Given the description of an element on the screen output the (x, y) to click on. 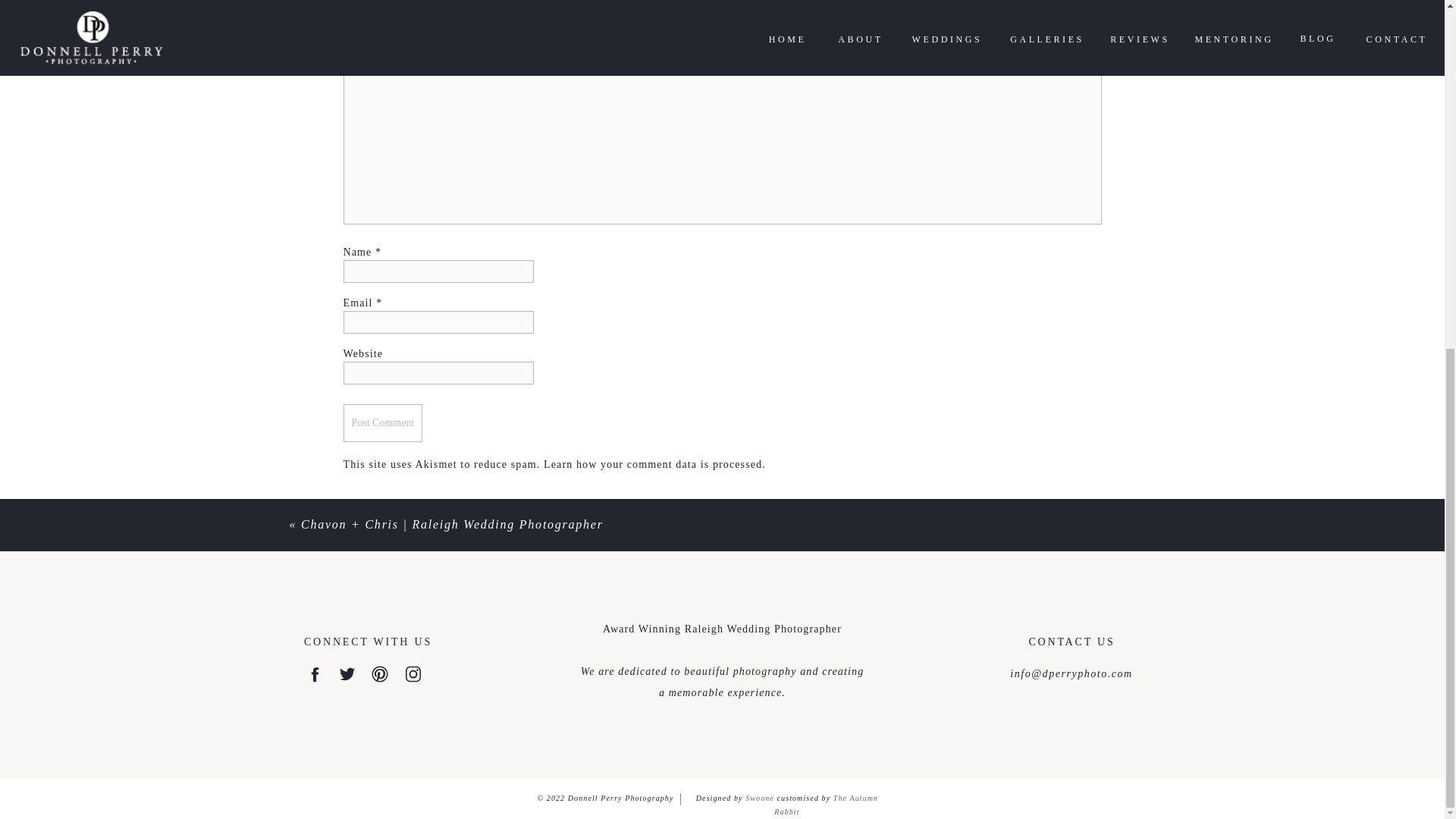
Post Comment (382, 423)
Learn how your comment data is processed (652, 464)
Post Comment (382, 423)
Swoone (759, 797)
The Autumn Rabbit (825, 804)
